Given the description of an element on the screen output the (x, y) to click on. 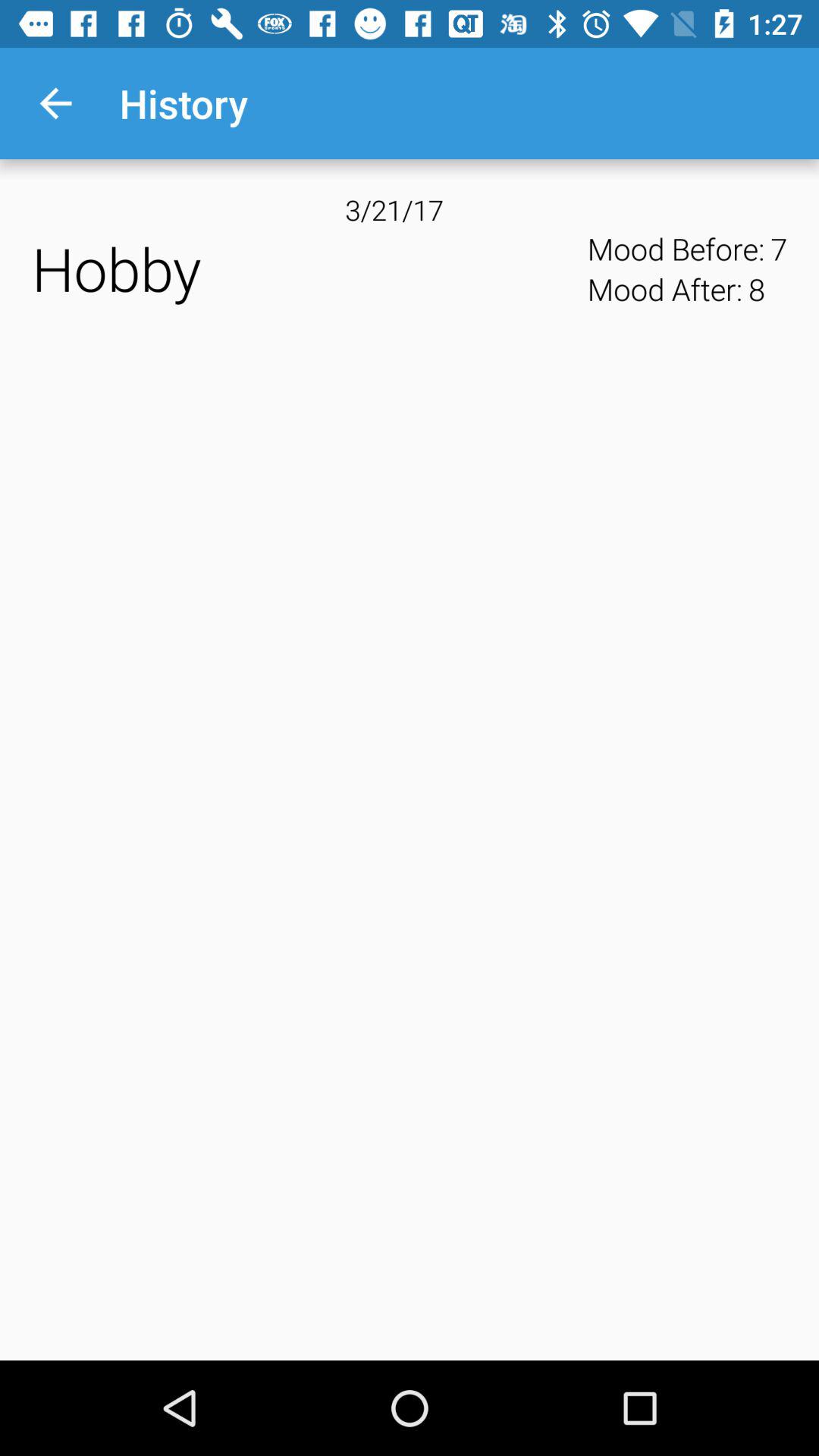
press 3/21/17 icon (409, 209)
